Given the description of an element on the screen output the (x, y) to click on. 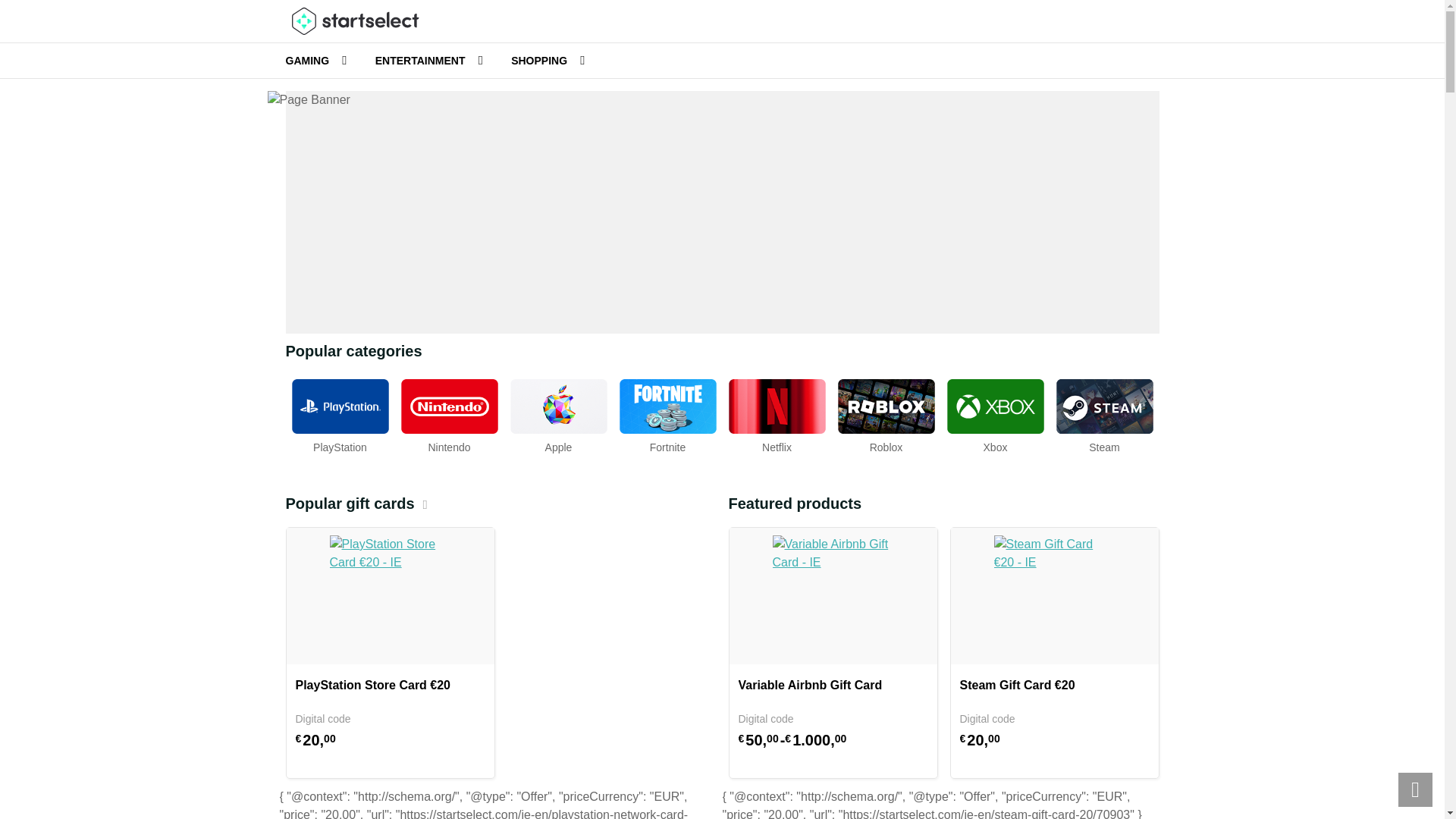
Shopping (540, 60)
playstation (339, 414)
Steam (1104, 414)
roblox (885, 414)
nintendo (449, 414)
Entertainment (421, 60)
xbox (995, 414)
netflix (776, 414)
Fortnite (667, 414)
